Given the description of an element on the screen output the (x, y) to click on. 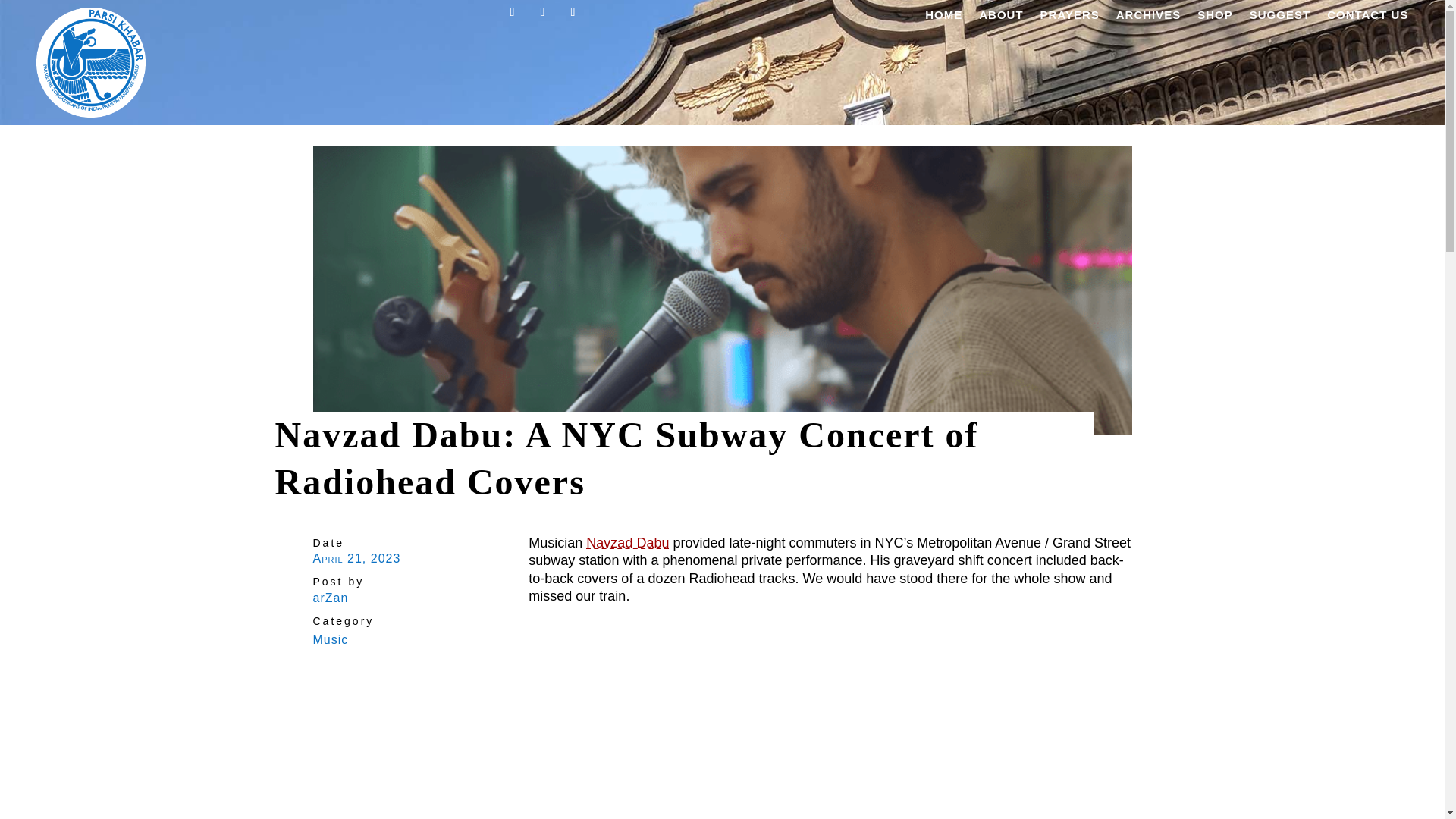
Follow on Instagram (572, 12)
SUGGEST (1279, 17)
Follow on Facebook (512, 12)
arZan (330, 597)
PK-LogoArtboard 1-8 (91, 62)
Music (330, 639)
ARCHIVES (1148, 17)
YouTube video player (829, 725)
PRAYERS (1070, 17)
Follow on X (542, 12)
SHOP (1214, 17)
ABOUT (1000, 17)
Navzad Dabu (627, 542)
CONTACT US (1366, 17)
HOME (943, 17)
